Given the description of an element on the screen output the (x, y) to click on. 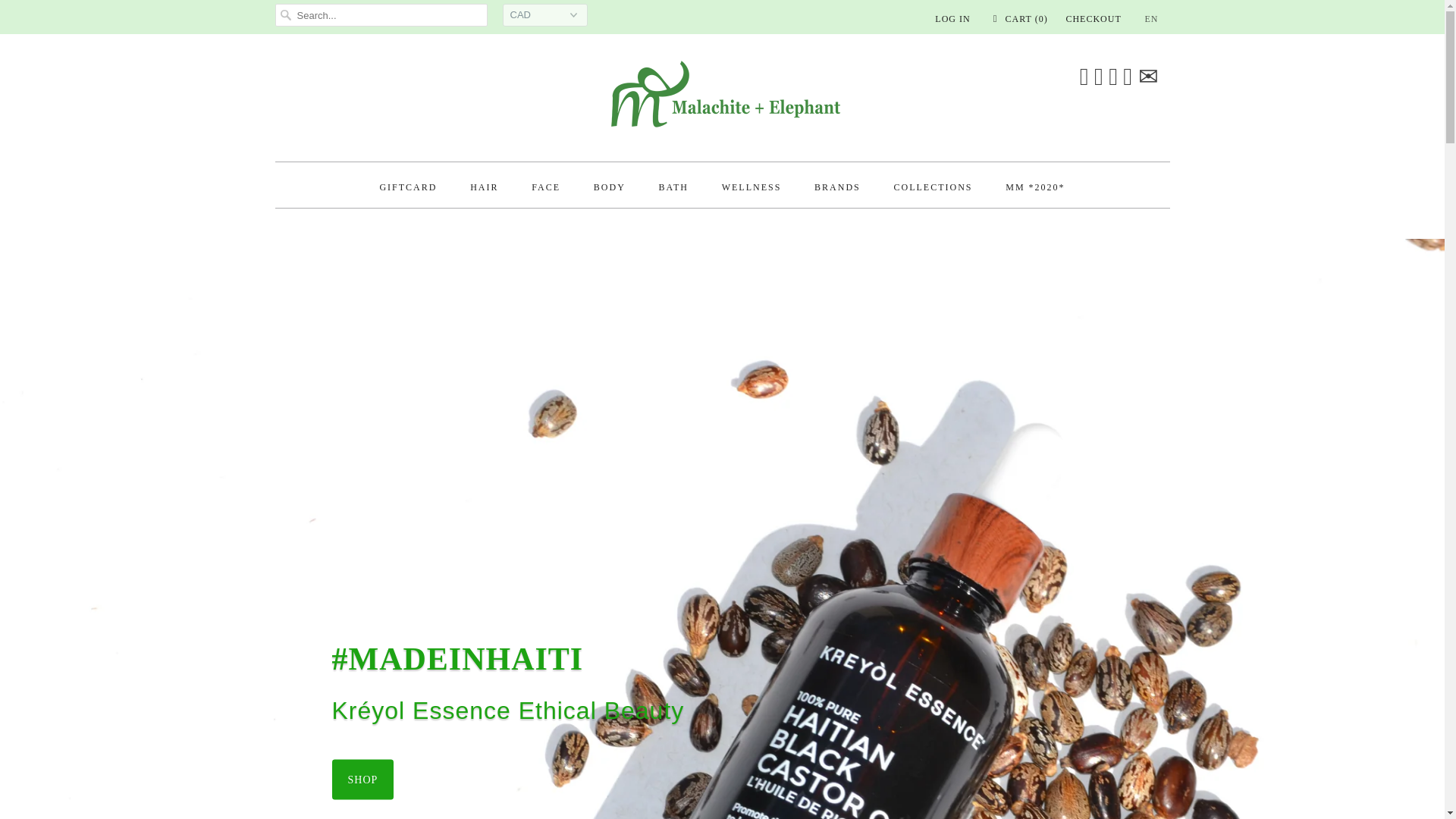
LOG IN (951, 18)
CHECKOUT (1093, 18)
